Given the description of an element on the screen output the (x, y) to click on. 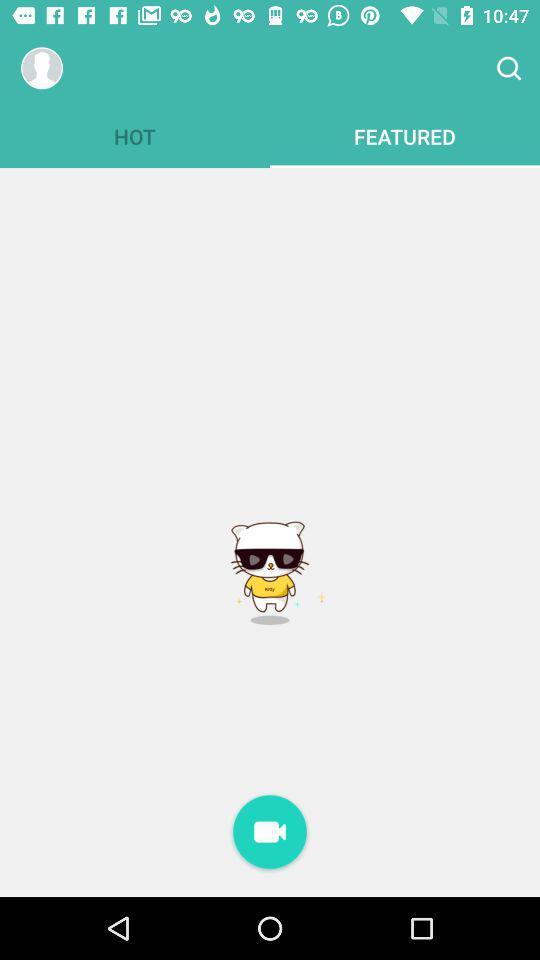
turn video on (269, 834)
